Given the description of an element on the screen output the (x, y) to click on. 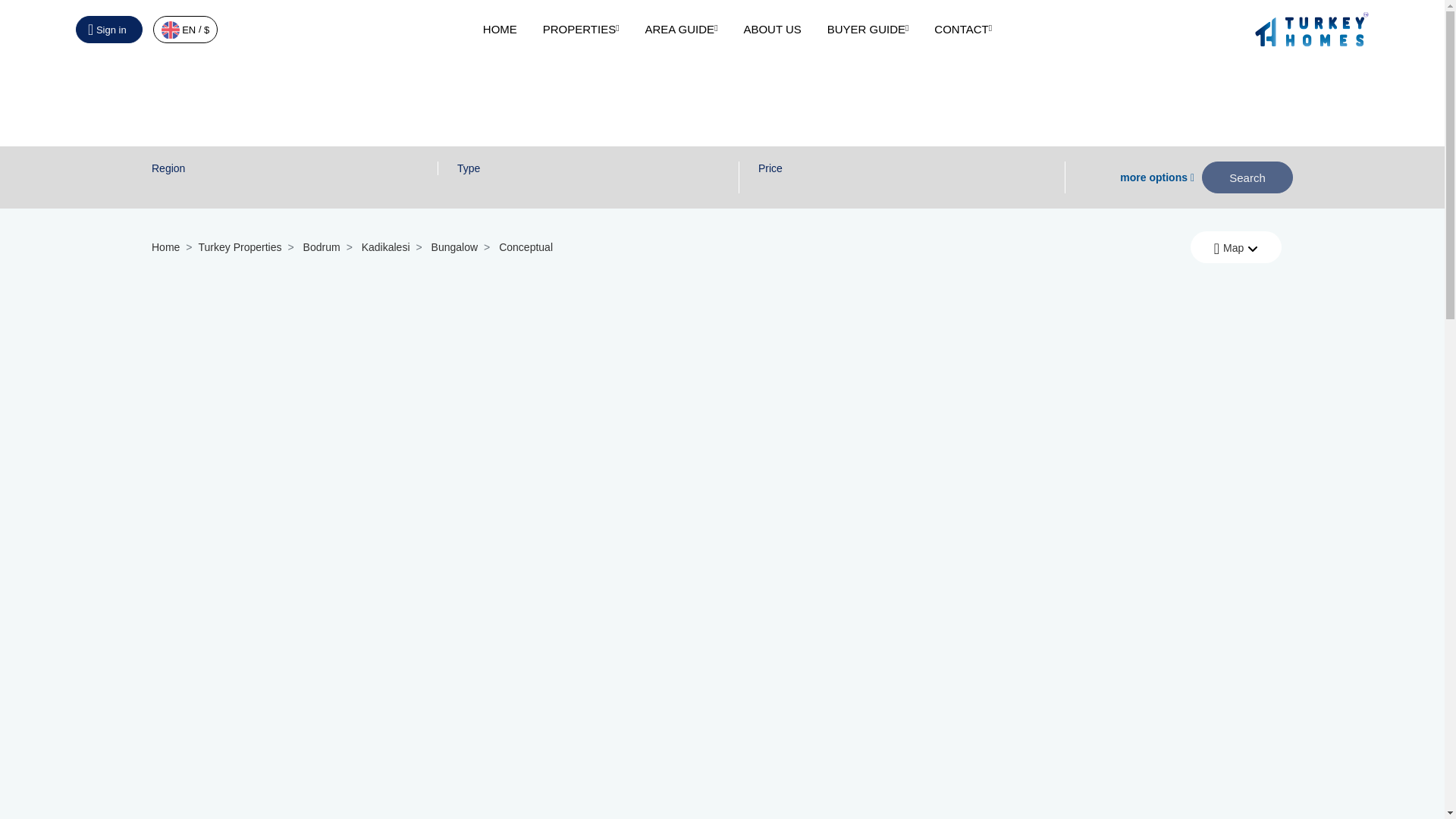
ABOUT US (771, 28)
Search (1247, 177)
HOME (499, 28)
PROPERTIES (581, 28)
AREA GUIDE (681, 28)
Sign in (108, 29)
BUYER GUIDE (867, 28)
